Given the description of an element on the screen output the (x, y) to click on. 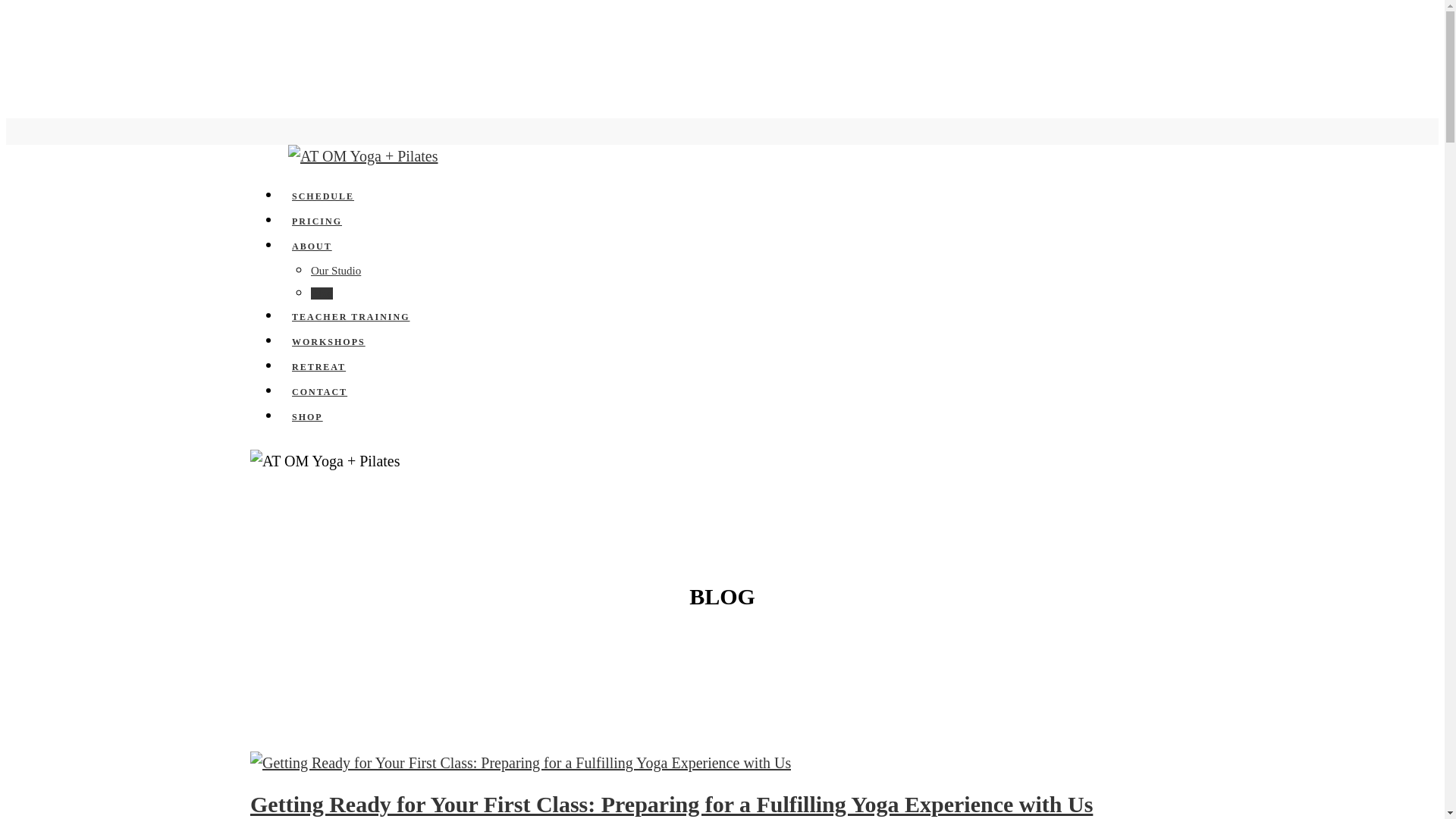
ABOUT Element type: text (311, 246)
Our Studio Element type: text (335, 270)
RETREAT Element type: text (318, 366)
SHOP Element type: text (307, 416)
SCHEDULE Element type: text (322, 196)
Blog Element type: text (321, 293)
PRICING Element type: text (316, 221)
WORKSHOPS Element type: text (328, 341)
CONTACT Element type: text (319, 391)
TEACHER TRAINING Element type: text (350, 316)
